Given the description of an element on the screen output the (x, y) to click on. 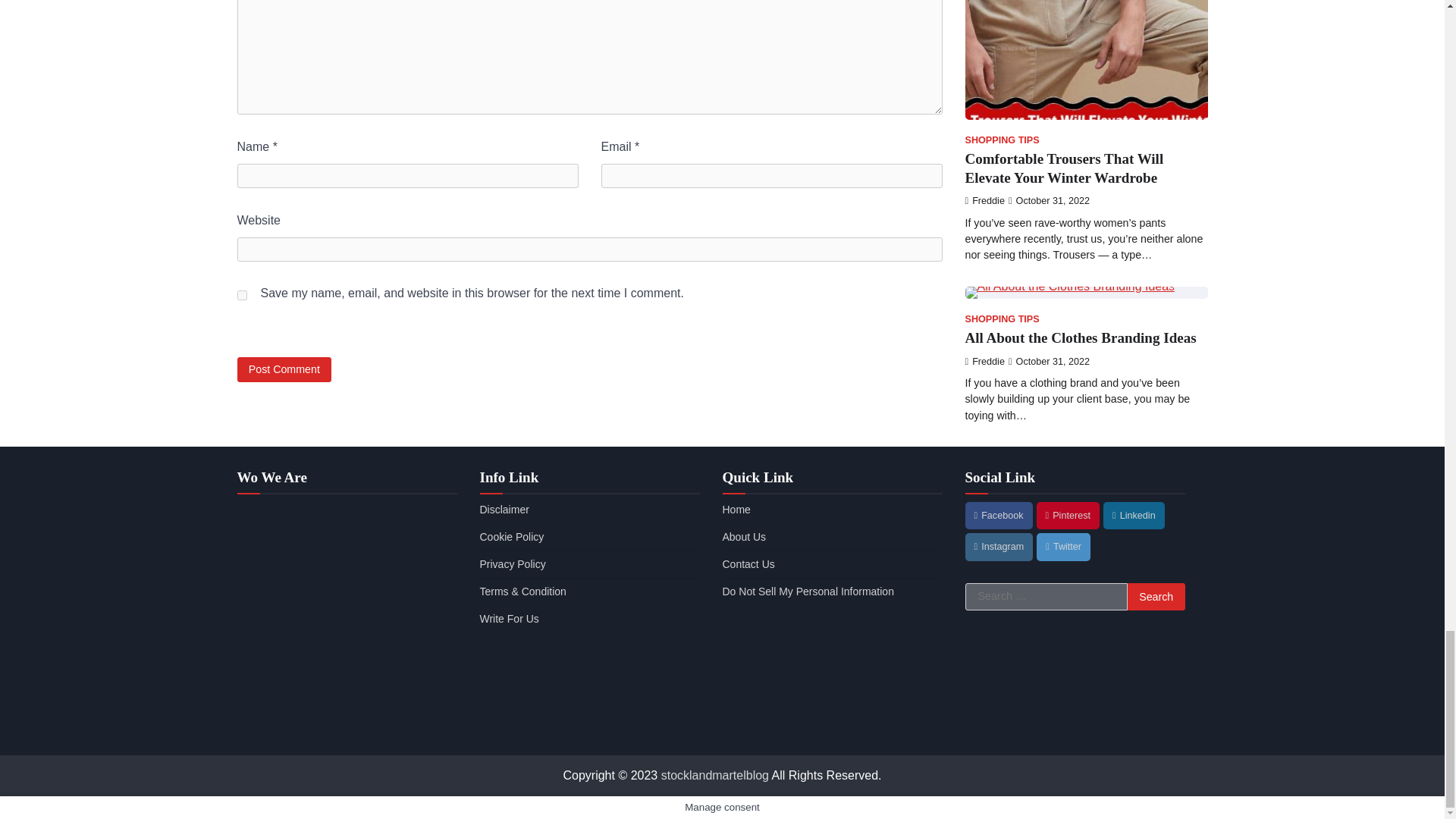
DMCA.com Protection Status (832, 727)
Post Comment (283, 369)
Search (1155, 596)
Search (1155, 596)
yes (240, 295)
